Given the description of an element on the screen output the (x, y) to click on. 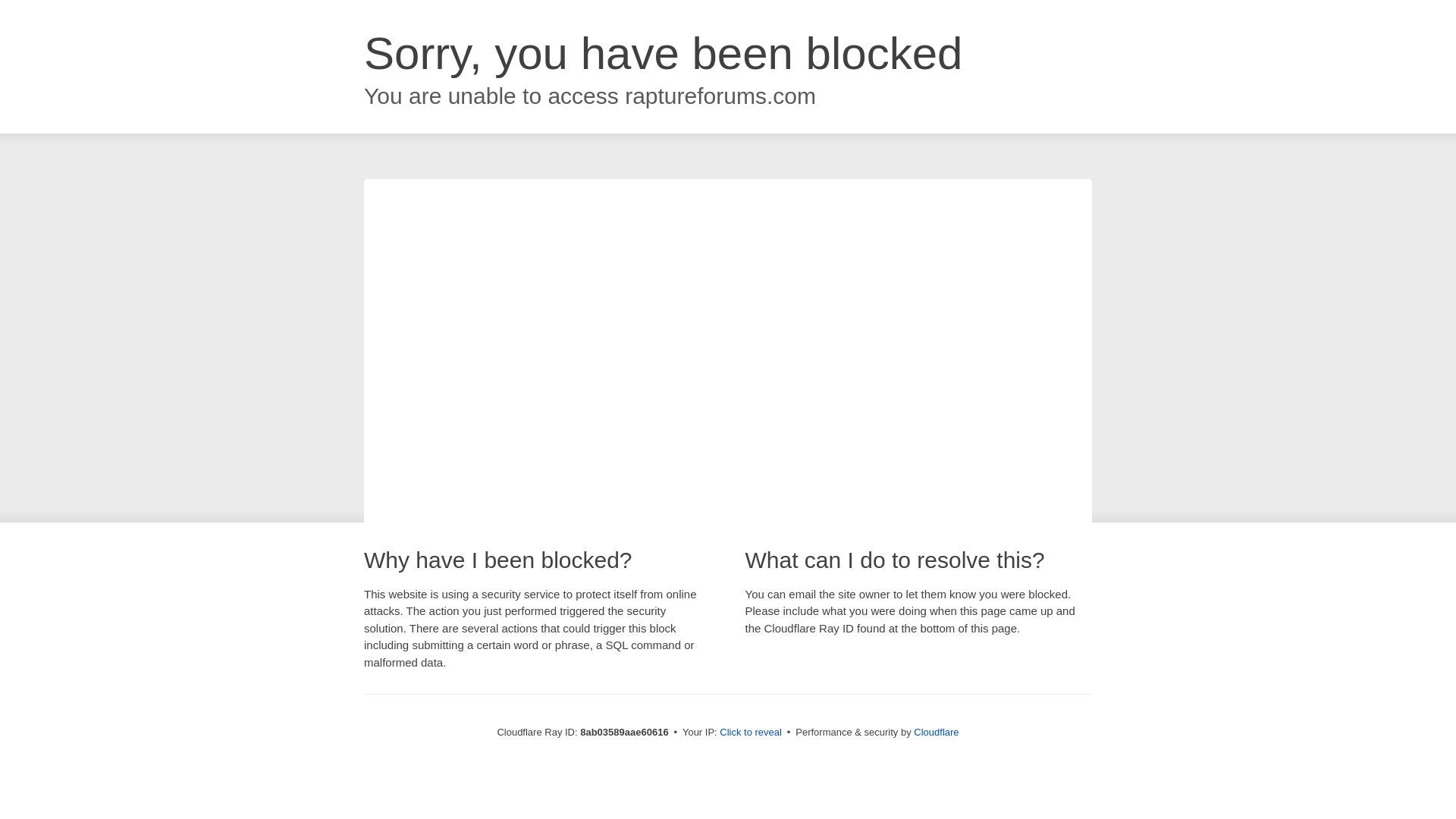
Click to reveal (750, 732)
Cloudflare (936, 731)
